Given the description of an element on the screen output the (x, y) to click on. 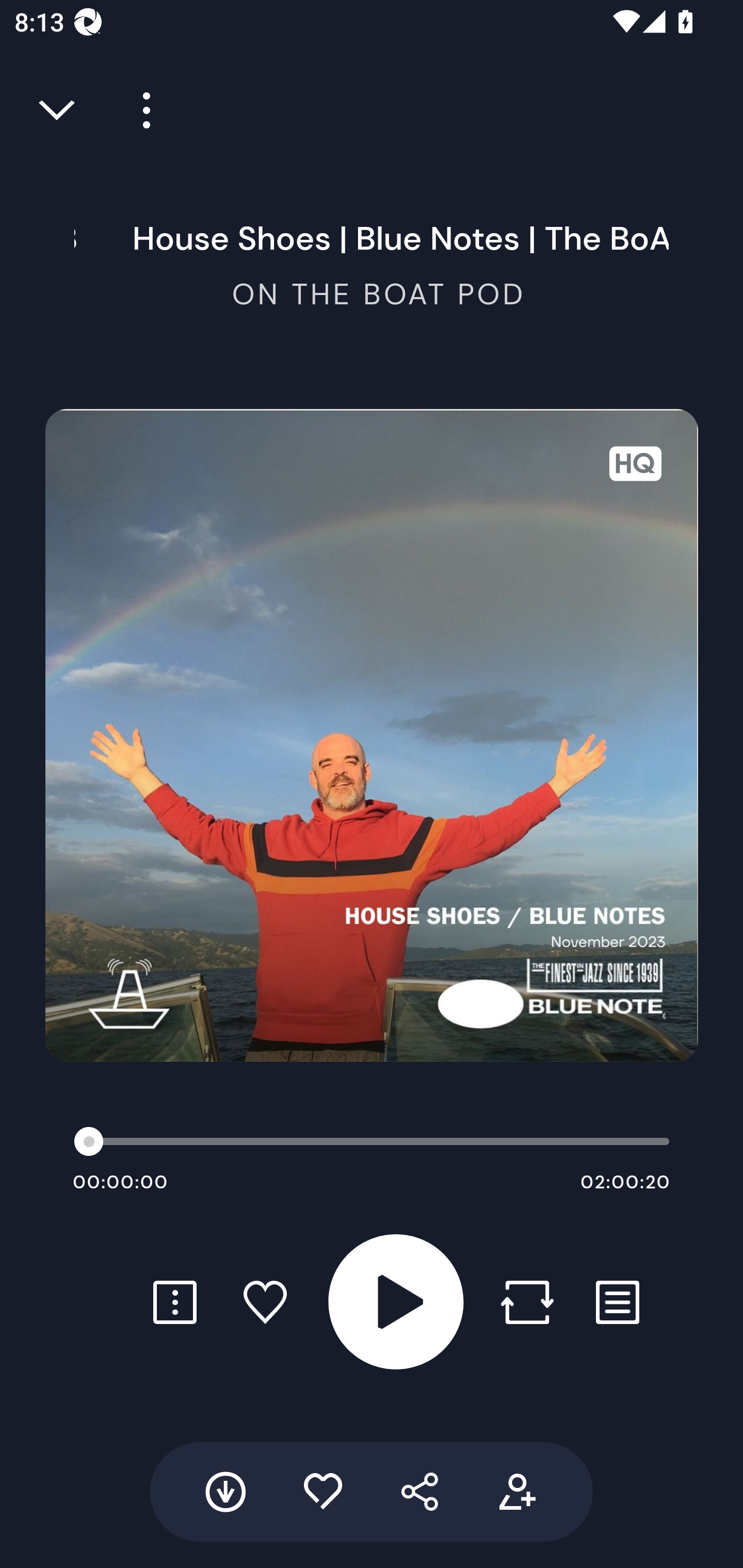
Close full player (58, 110)
Player more options button (139, 110)
Repost button (527, 1301)
